Given the description of an element on the screen output the (x, y) to click on. 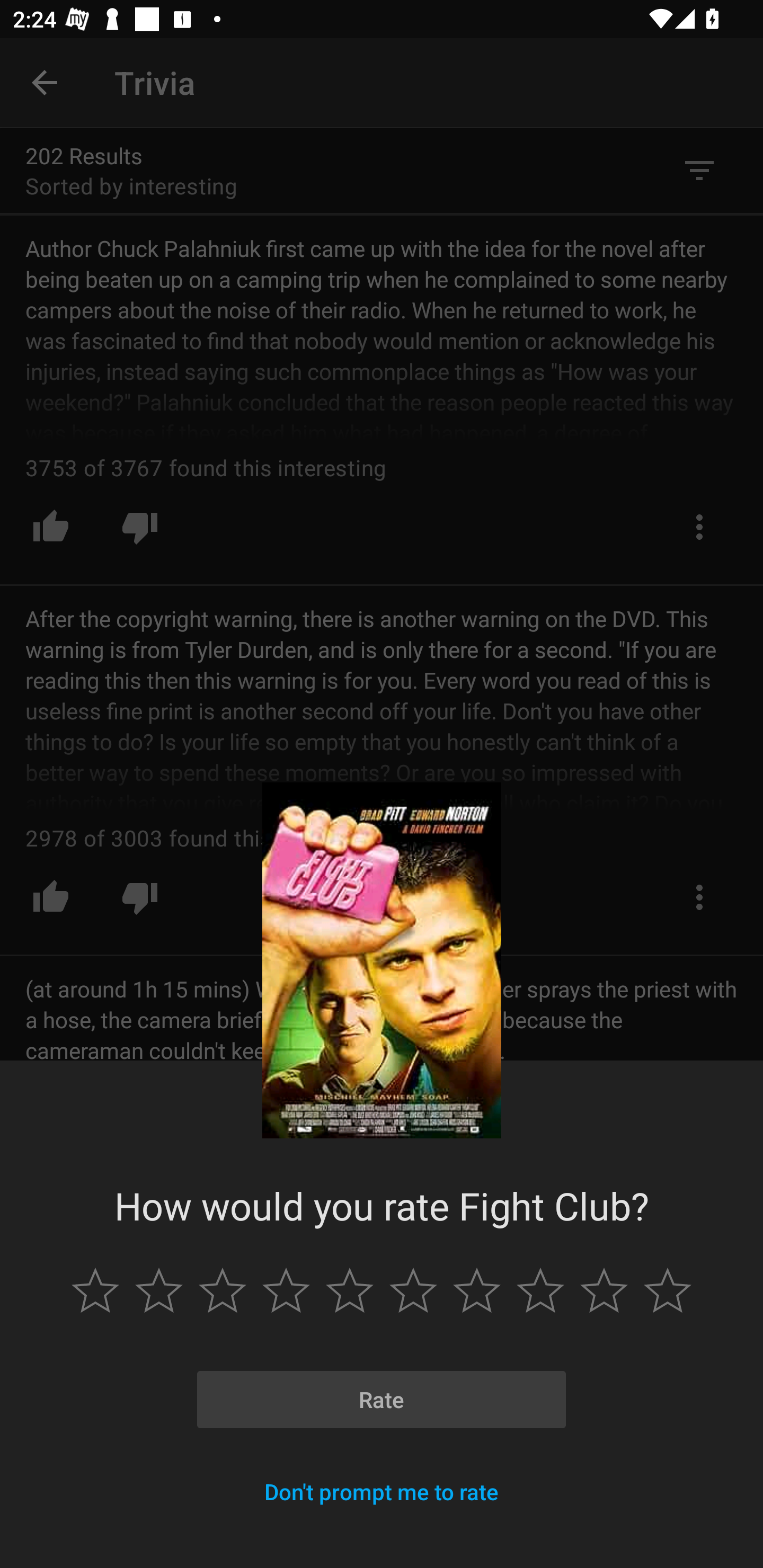
Rate (381, 1399)
Don't prompt me to rate (381, 1491)
